Given the description of an element on the screen output the (x, y) to click on. 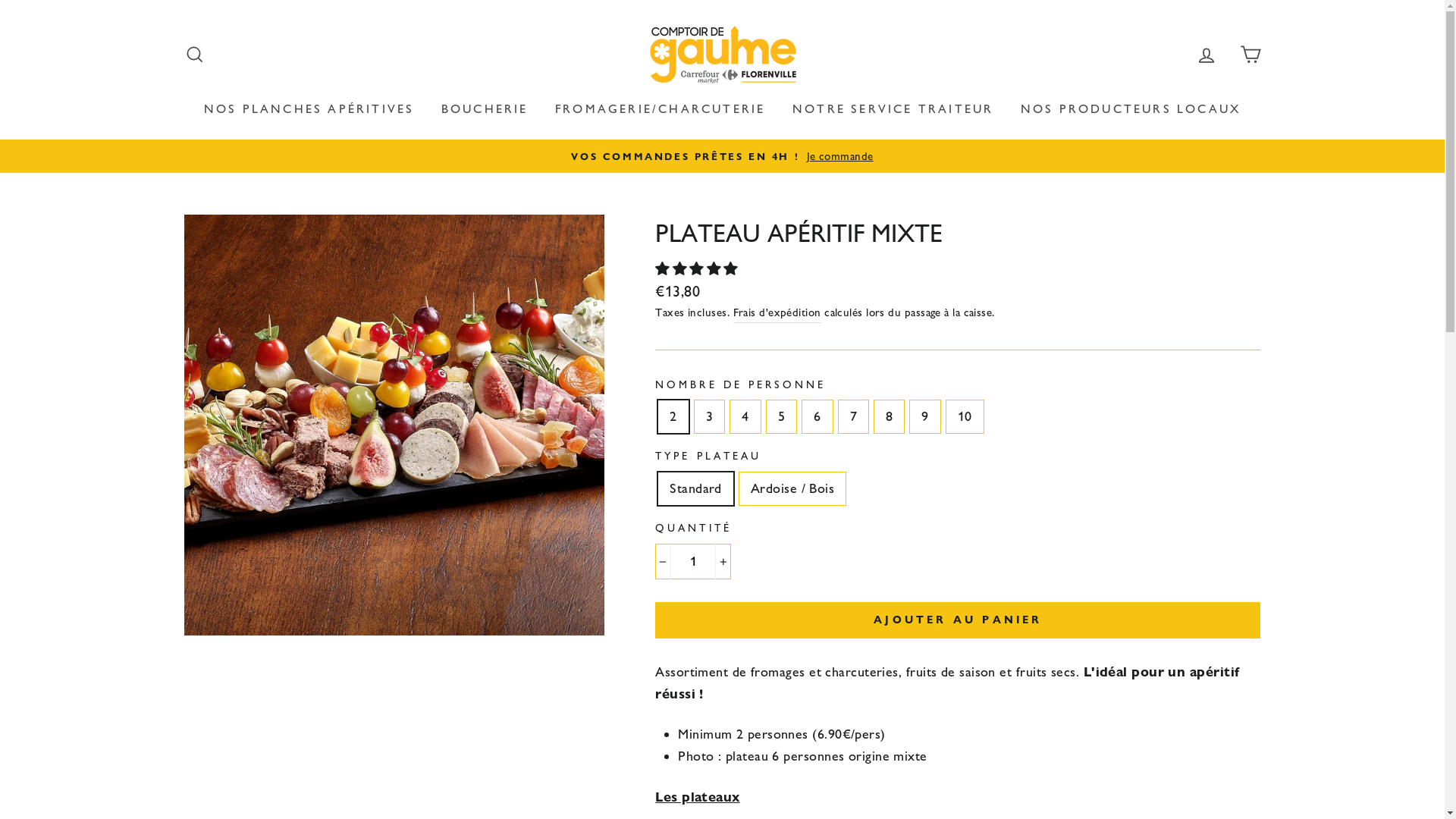
VOTRE PANIER Element type: text (1249, 53)
NOS PRODUCTEURS LOCAUX Element type: text (1130, 108)
SE CONNECTER Element type: text (1206, 53)
AJOUTER AU PANIER Element type: text (957, 620)
RECHERCHER Element type: text (193, 53)
+ Element type: text (723, 561)
NOTRE SERVICE TRAITEUR Element type: text (892, 108)
Passer au contenu Element type: text (0, 0)
BOUCHERIE Element type: text (484, 108)
FROMAGERIE/CHARCUTERIE Element type: text (659, 108)
